Given the description of an element on the screen output the (x, y) to click on. 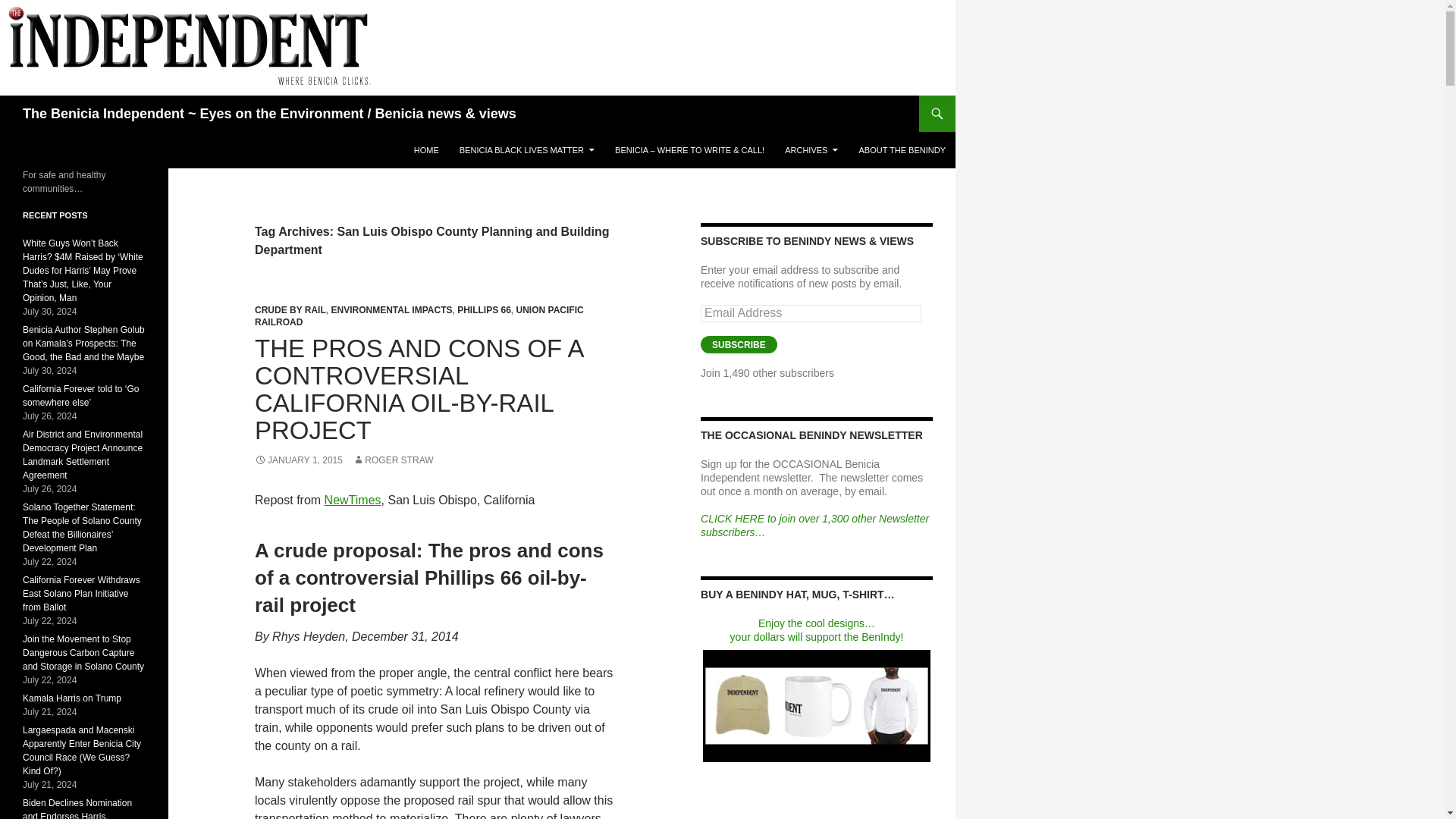
BENICIA BLACK LIVES MATTER (526, 149)
ARCHIVES (811, 149)
HOME (426, 149)
